Given the description of an element on the screen output the (x, y) to click on. 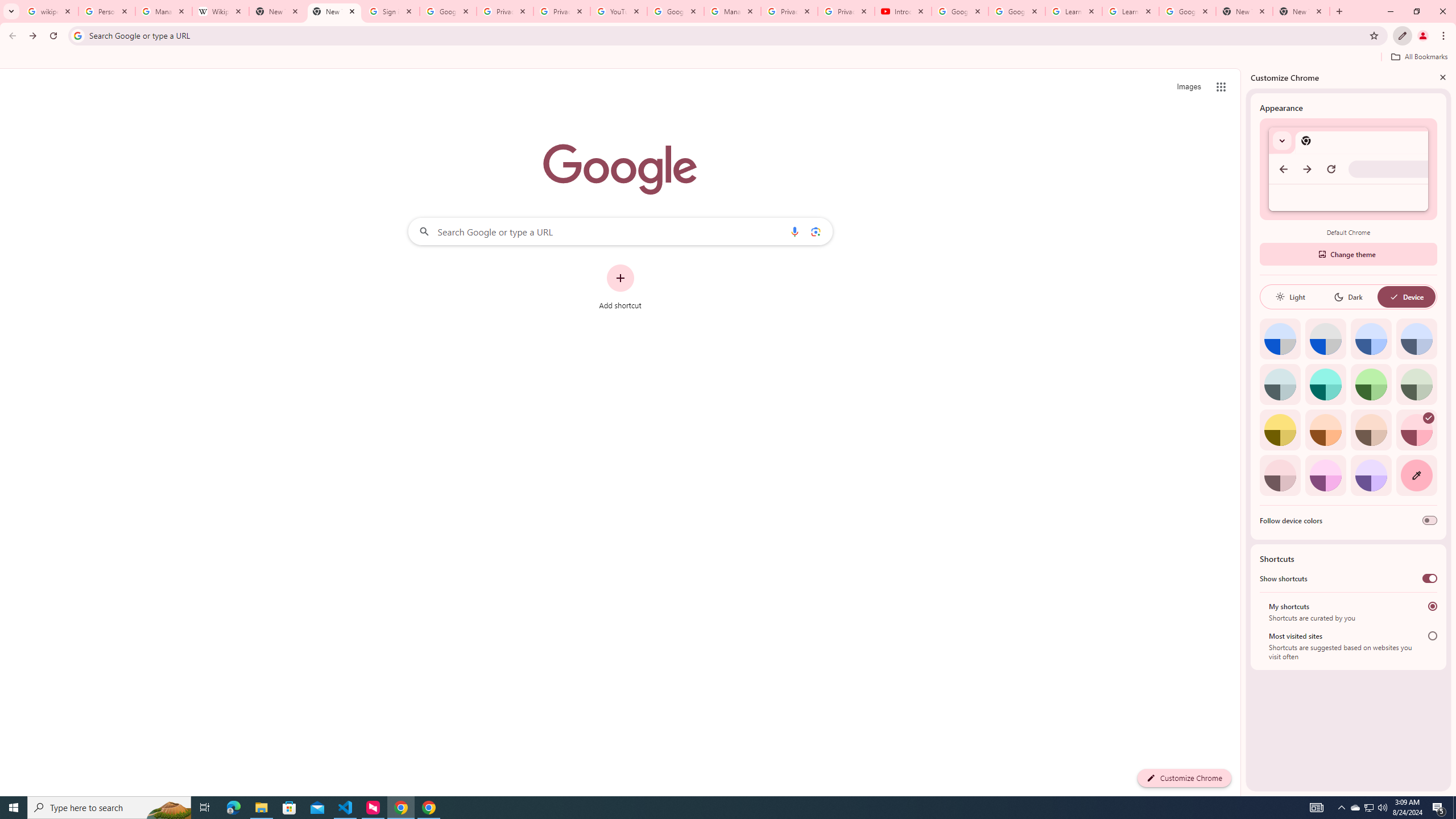
Follow device colors (1429, 519)
Pink (1279, 475)
Search by image (816, 230)
Viridian (1416, 383)
Blue (1371, 338)
Dark (1348, 296)
Change theme (1348, 254)
Personalization & Google Search results - Google Search Help (105, 11)
Citron (1279, 429)
Google Account Help (959, 11)
Violet (1371, 475)
